Given the description of an element on the screen output the (x, y) to click on. 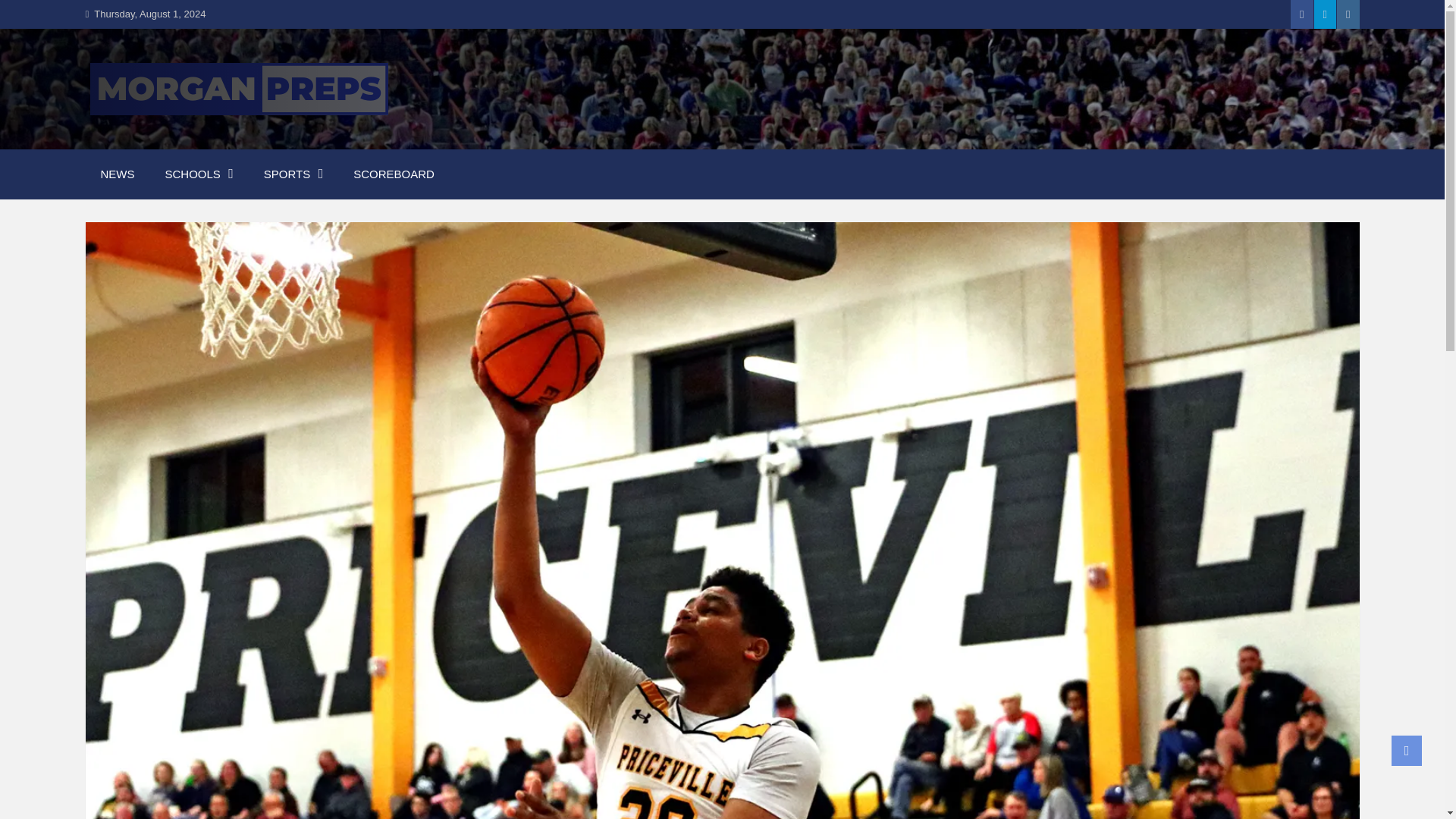
SCHOOLS (198, 174)
NEWS (116, 174)
Go to Top (1406, 750)
SCOREBOARD (393, 174)
SPORTS (292, 174)
Morgan Preps (185, 138)
